Given the description of an element on the screen output the (x, y) to click on. 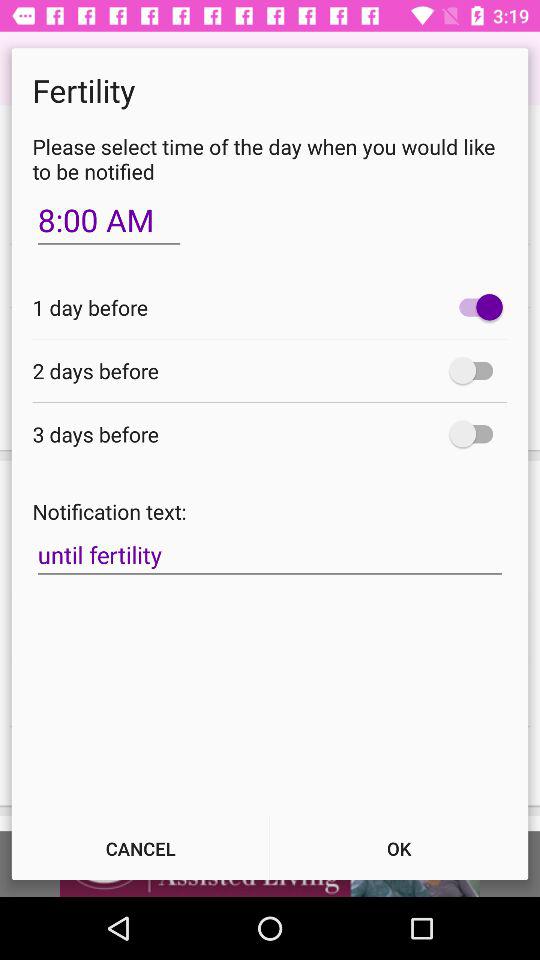
turn off the item next to the 2 days before icon (476, 370)
